Given the description of an element on the screen output the (x, y) to click on. 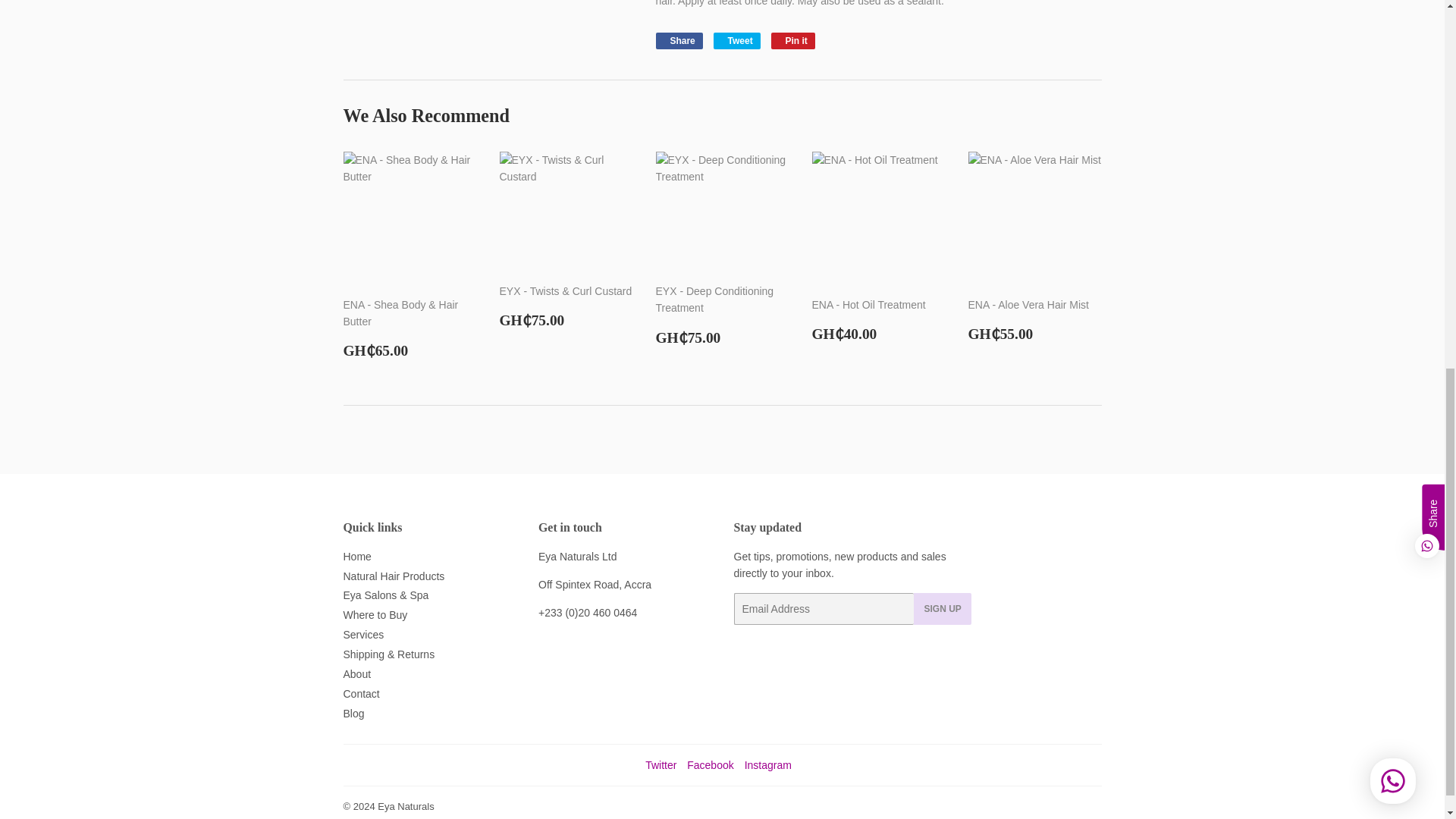
Natural Hair Products (393, 576)
Eya Naturals on Twitter (661, 765)
Where to Buy (374, 614)
Services (363, 634)
Eya Naturals on Instagram (768, 765)
Share on Facebook (678, 40)
Home (678, 40)
Eya Naturals on Facebook (736, 40)
Tweet on Twitter (356, 556)
Pin on Pinterest (710, 765)
